Given the description of an element on the screen output the (x, y) to click on. 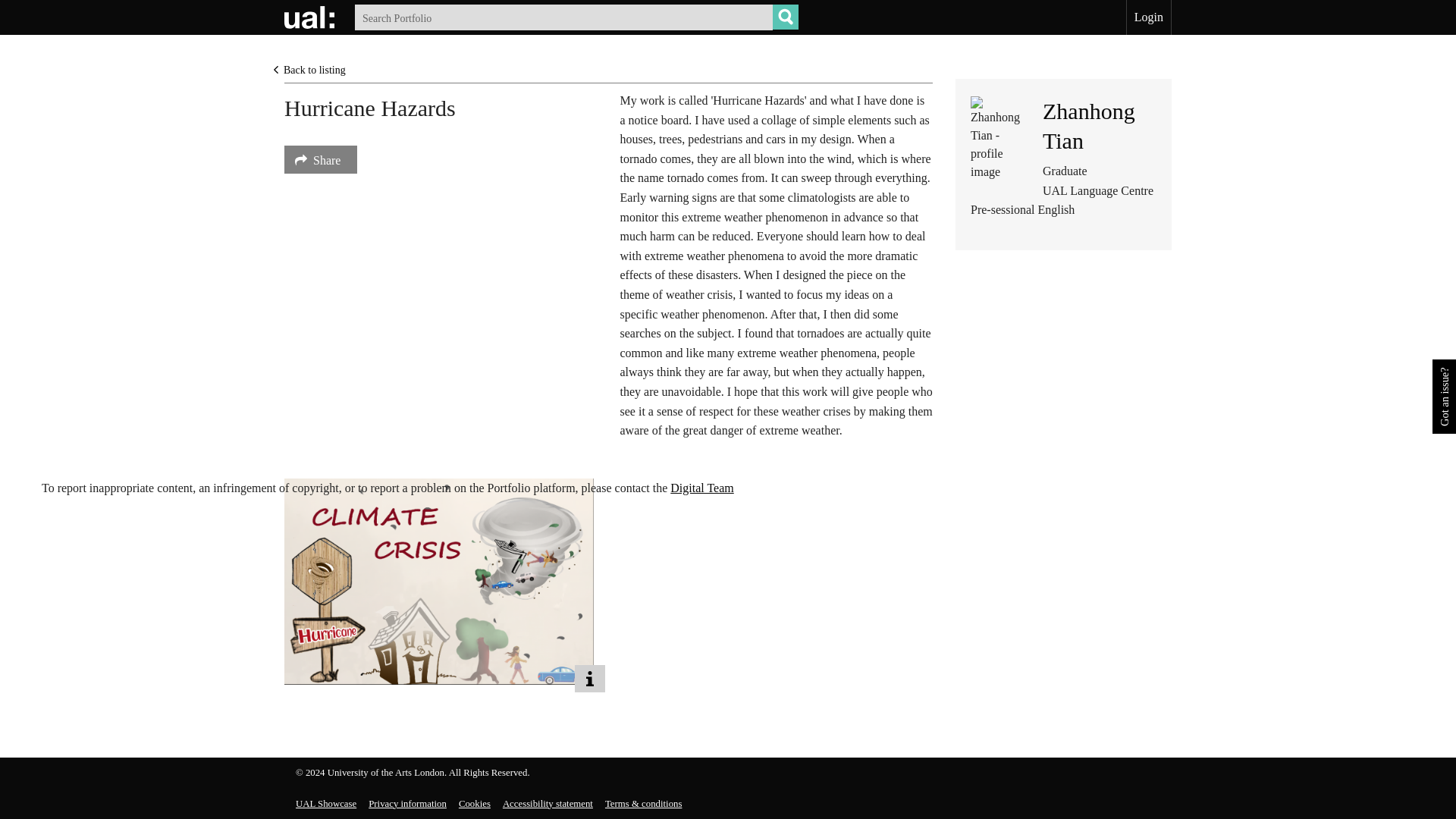
Login (1148, 17)
Accessibility statement (547, 803)
Search (785, 17)
Privacy information (407, 803)
Share (319, 159)
Cookies (474, 803)
Search (785, 17)
Browse (785, 17)
Search (785, 17)
Back to listing (309, 70)
UAL: Portfolio (311, 16)
Keywords (1088, 125)
Digital Team (576, 17)
UAL Showcase (701, 487)
